Given the description of an element on the screen output the (x, y) to click on. 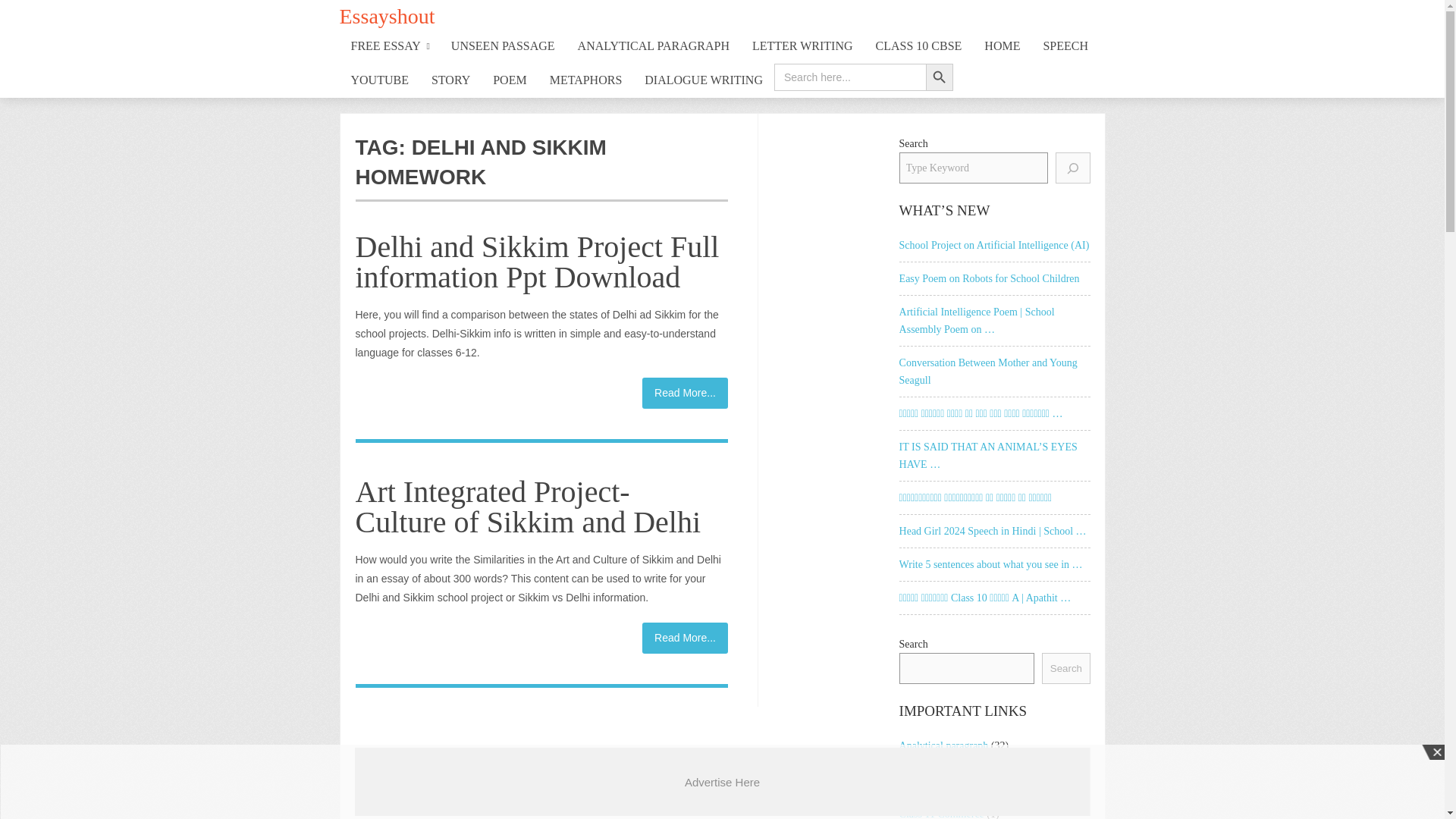
POEM (509, 80)
Read More... (685, 392)
HOME (1001, 46)
Search Button (939, 76)
Easy Poem on Robots for School Children (994, 278)
SPEECH (1064, 46)
Art Integrated Project- Culture of Sikkim and Delhi (527, 506)
ANALYTICAL PARAGRAPH (653, 46)
STORY (450, 80)
CLASS 10 CBSE (919, 46)
LETTER WRITING (802, 46)
Art Integrated Project- Culture of Sikkim and Delhi (685, 637)
YOUTUBE (379, 80)
Delhi and Sikkim Project Full information Ppt Download (685, 392)
Art Integrated Project- Culture of Sikkim and Delhi (527, 506)
